Given the description of an element on the screen output the (x, y) to click on. 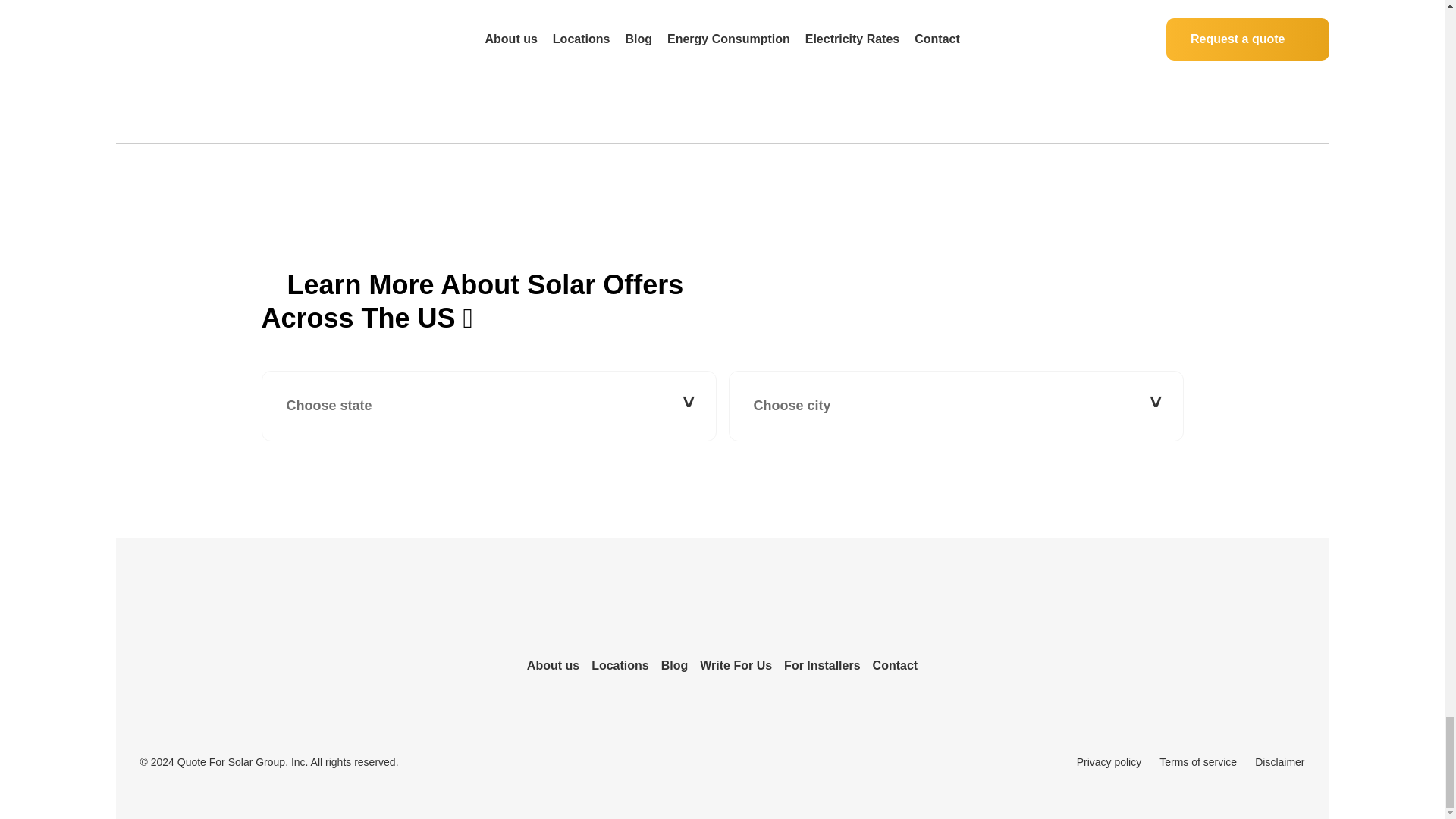
Blog (674, 665)
About us (553, 665)
For Installers (822, 665)
Contact (895, 665)
Locations (620, 665)
Privacy policy (1109, 762)
Terms of service (1197, 762)
Disclaimer (1279, 762)
Write For Us (735, 665)
